Given the description of an element on the screen output the (x, y) to click on. 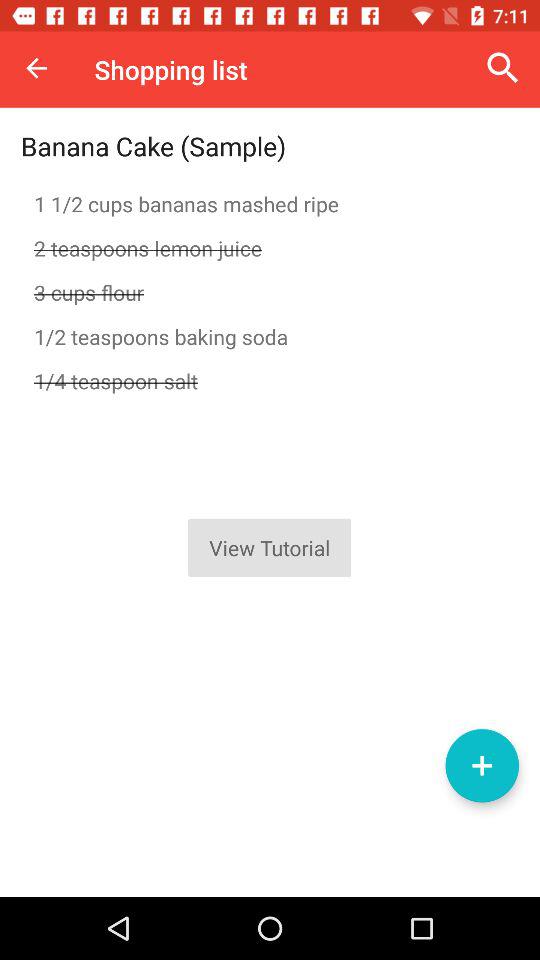
launch the item next to the shopping list (503, 67)
